Given the description of an element on the screen output the (x, y) to click on. 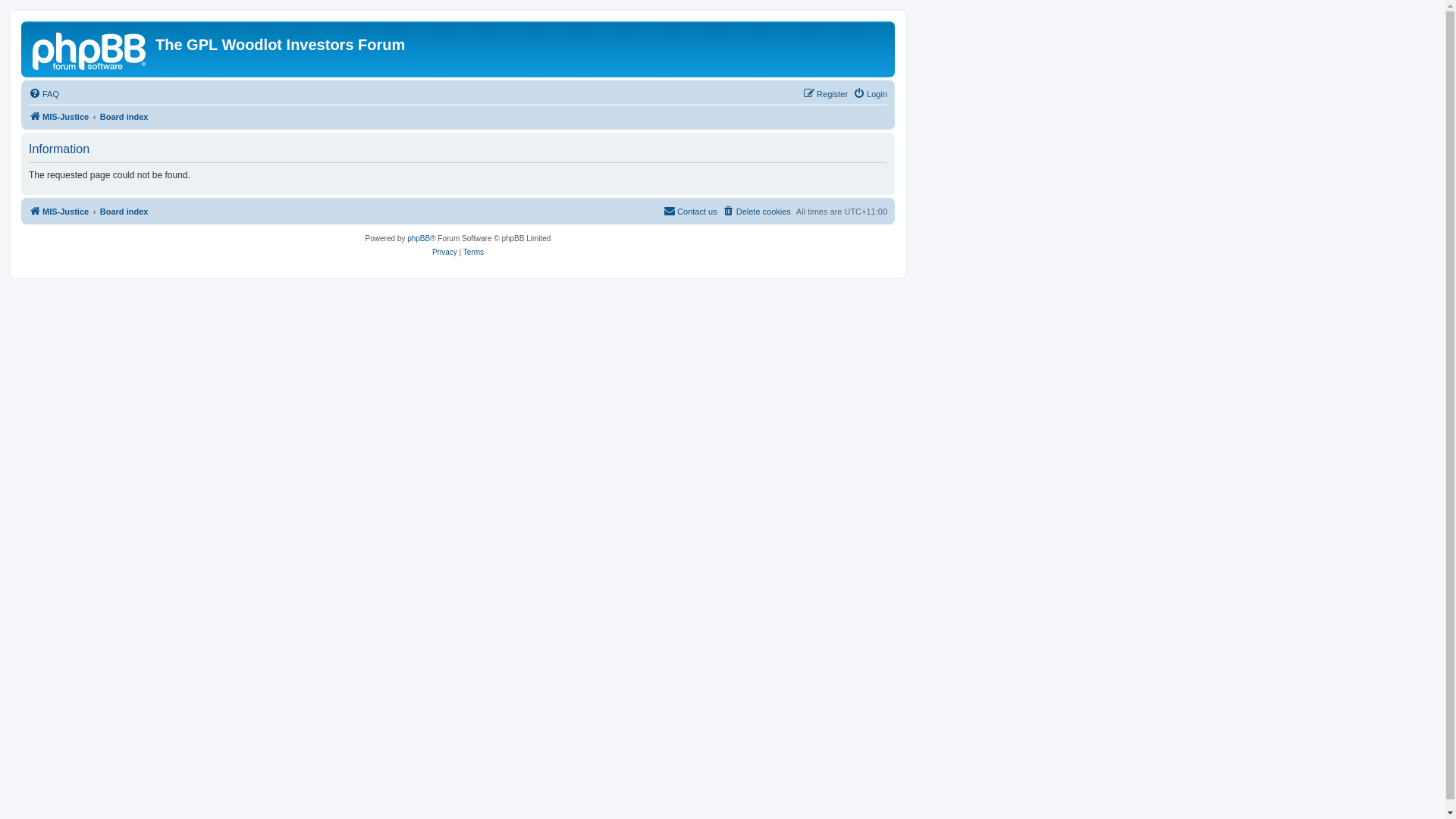
Privacy Element type: text (444, 252)
FAQ Element type: text (43, 93)
Login Element type: text (870, 93)
MIS-Justice Element type: text (58, 211)
MIS-Justice Element type: text (58, 116)
Terms Element type: text (473, 252)
MIS-Justice Element type: hover (90, 49)
Board index Element type: text (124, 211)
Register Element type: text (825, 93)
Board index Element type: text (124, 116)
phpBB Element type: text (418, 238)
Contact us Element type: text (690, 211)
Delete cookies Element type: text (756, 211)
